Given the description of an element on the screen output the (x, y) to click on. 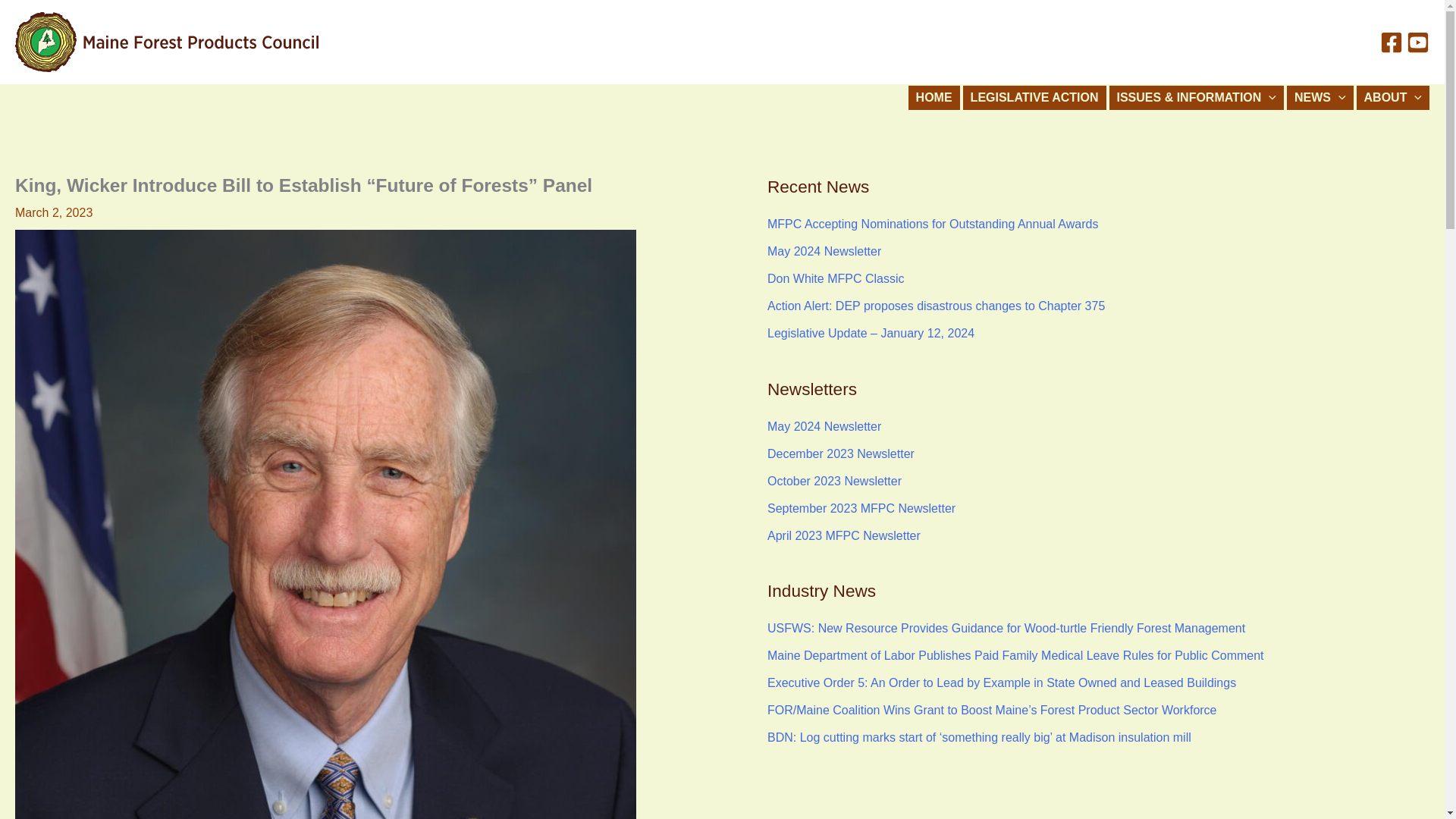
LEGISLATIVE ACTION (1034, 96)
NEWS (1320, 96)
ABOUT (1392, 96)
HOME (933, 96)
